Given the description of an element on the screen output the (x, y) to click on. 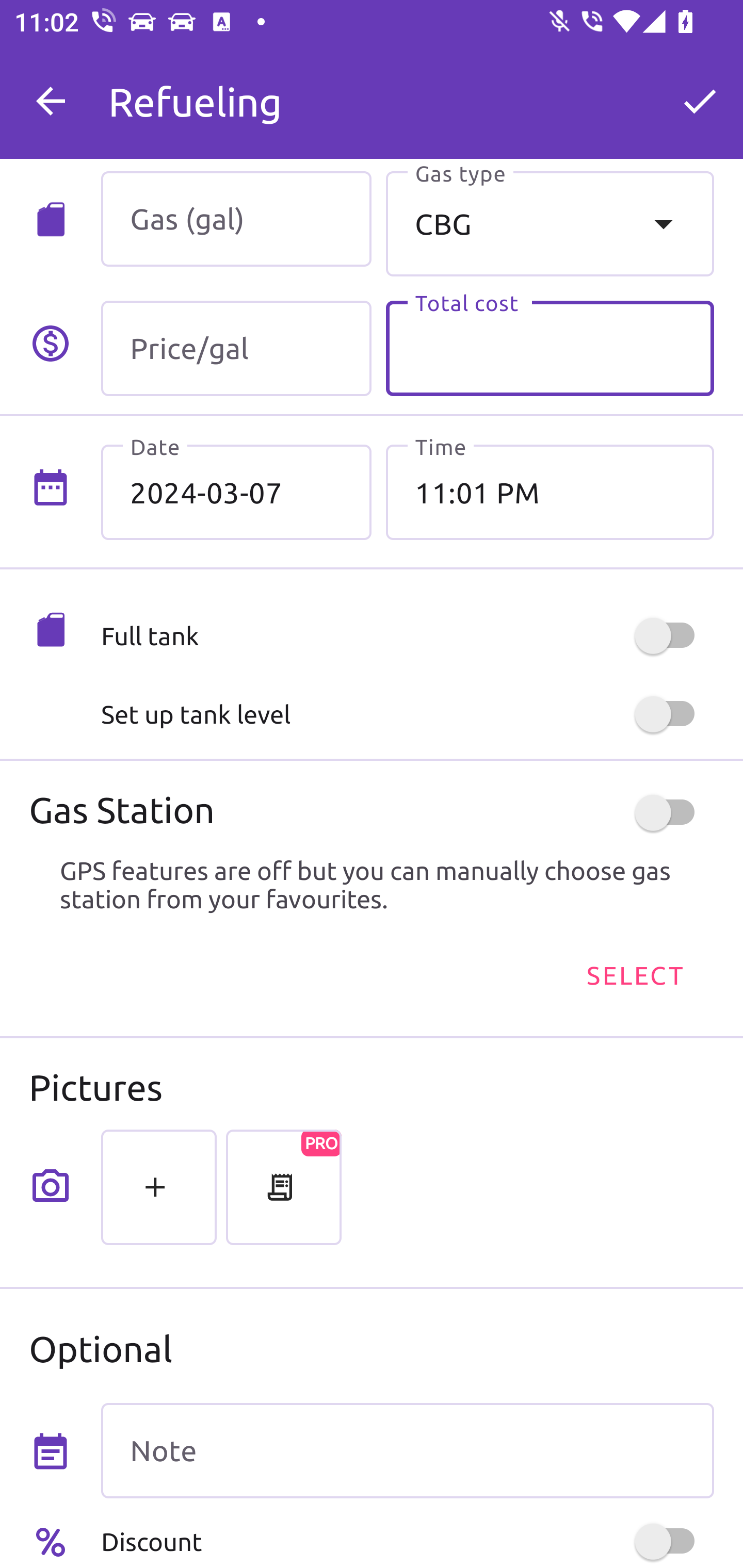
M My Car 0 km (407, 92)
Navigate up (50, 101)
OK (699, 101)
Gas (gal) (236, 218)
CBG (549, 222)
Price/gal (236, 348)
Total cost  (549, 348)
2024-03-07 (236, 492)
11:01 PM (549, 492)
Full tank (407, 635)
Set up tank level (407, 713)
SELECT (634, 974)
Note (407, 1451)
Discount (407, 1541)
